Given the description of an element on the screen output the (x, y) to click on. 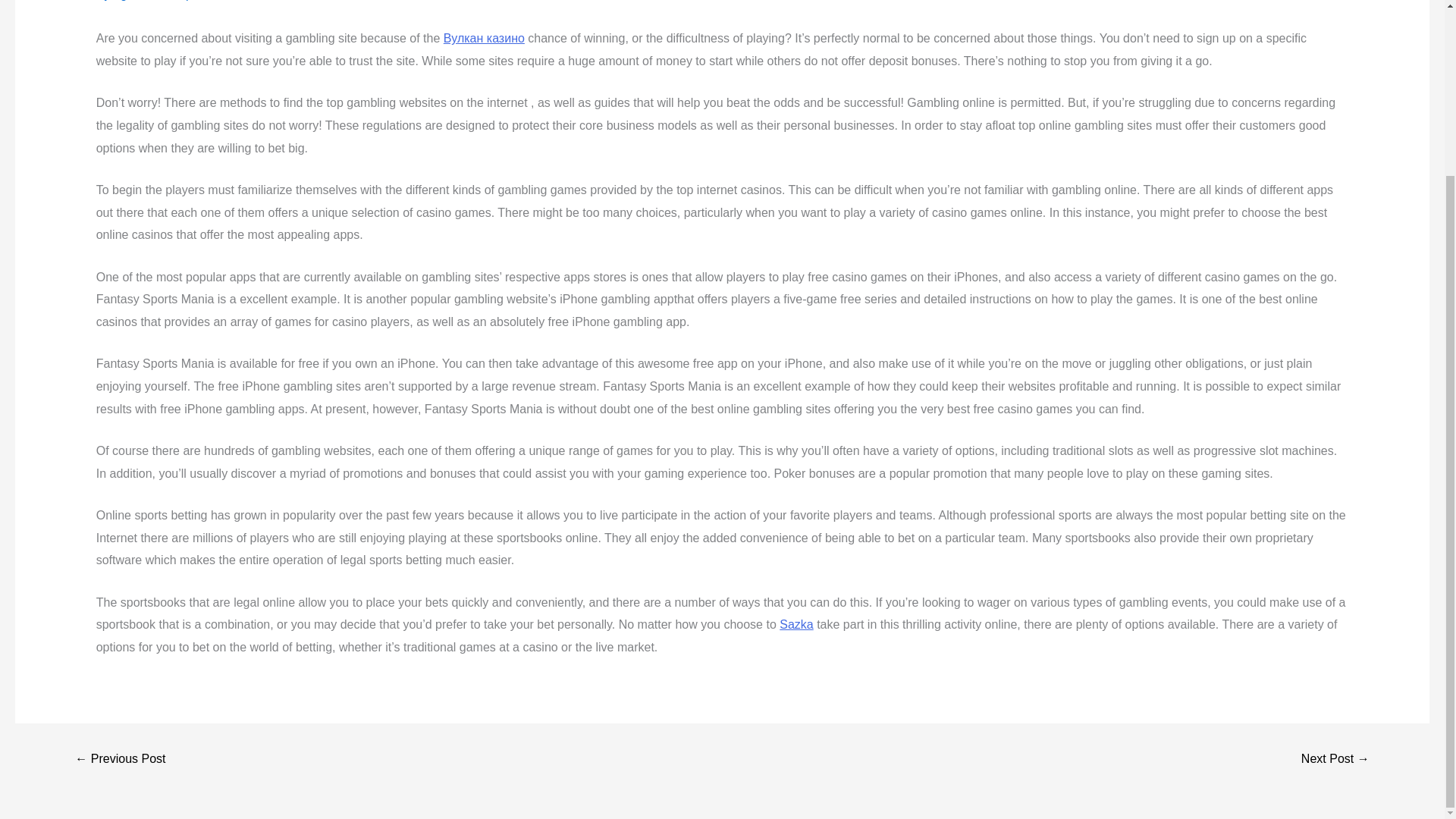
Research Paper Topics - Do Your Homework (119, 758)
Sazka (795, 624)
egn1589 (138, 0)
View all posts by egn1589 (138, 0)
